Given the description of an element on the screen output the (x, y) to click on. 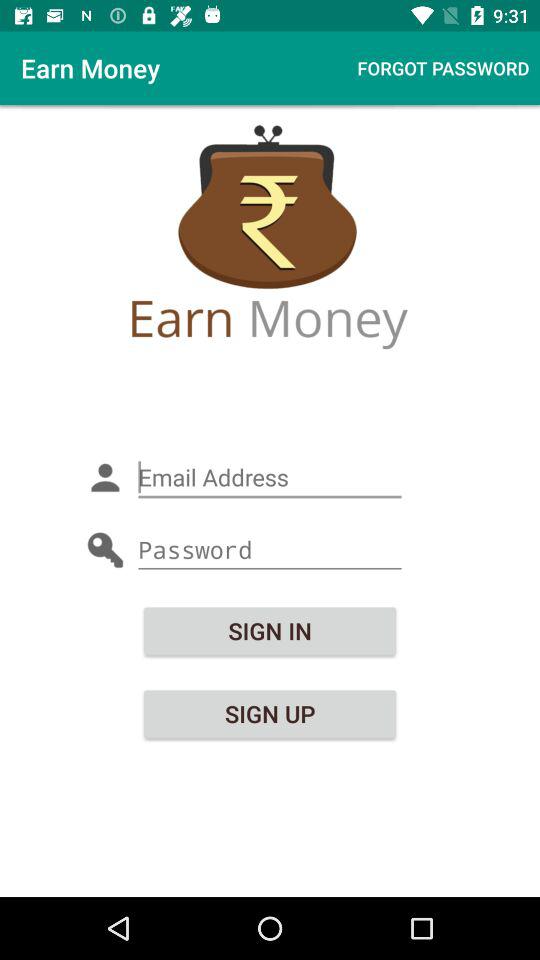
insert email address (269, 477)
